Given the description of an element on the screen output the (x, y) to click on. 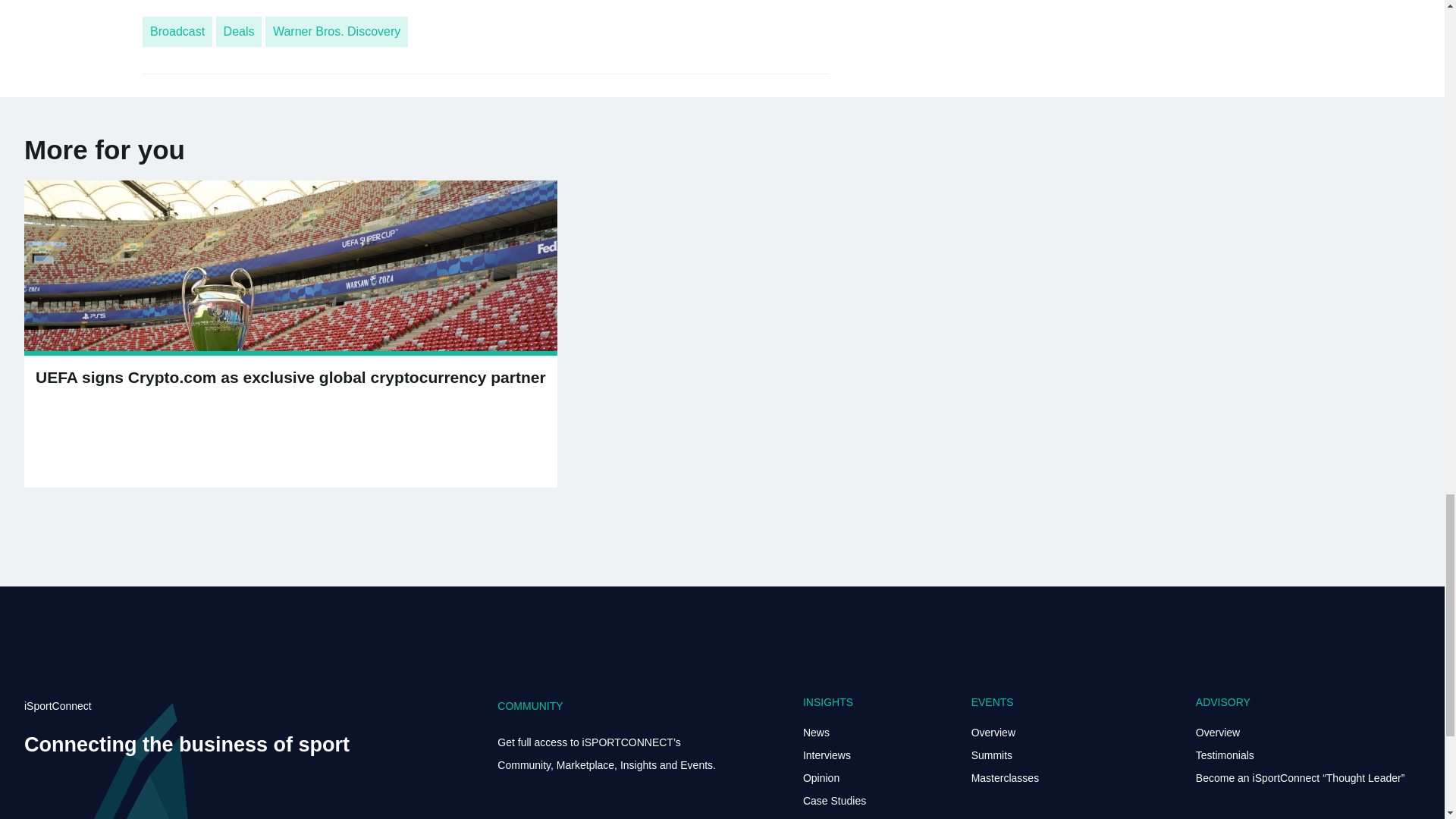
INSIGHTS (828, 702)
News (816, 732)
Interviews (826, 755)
